Given the description of an element on the screen output the (x, y) to click on. 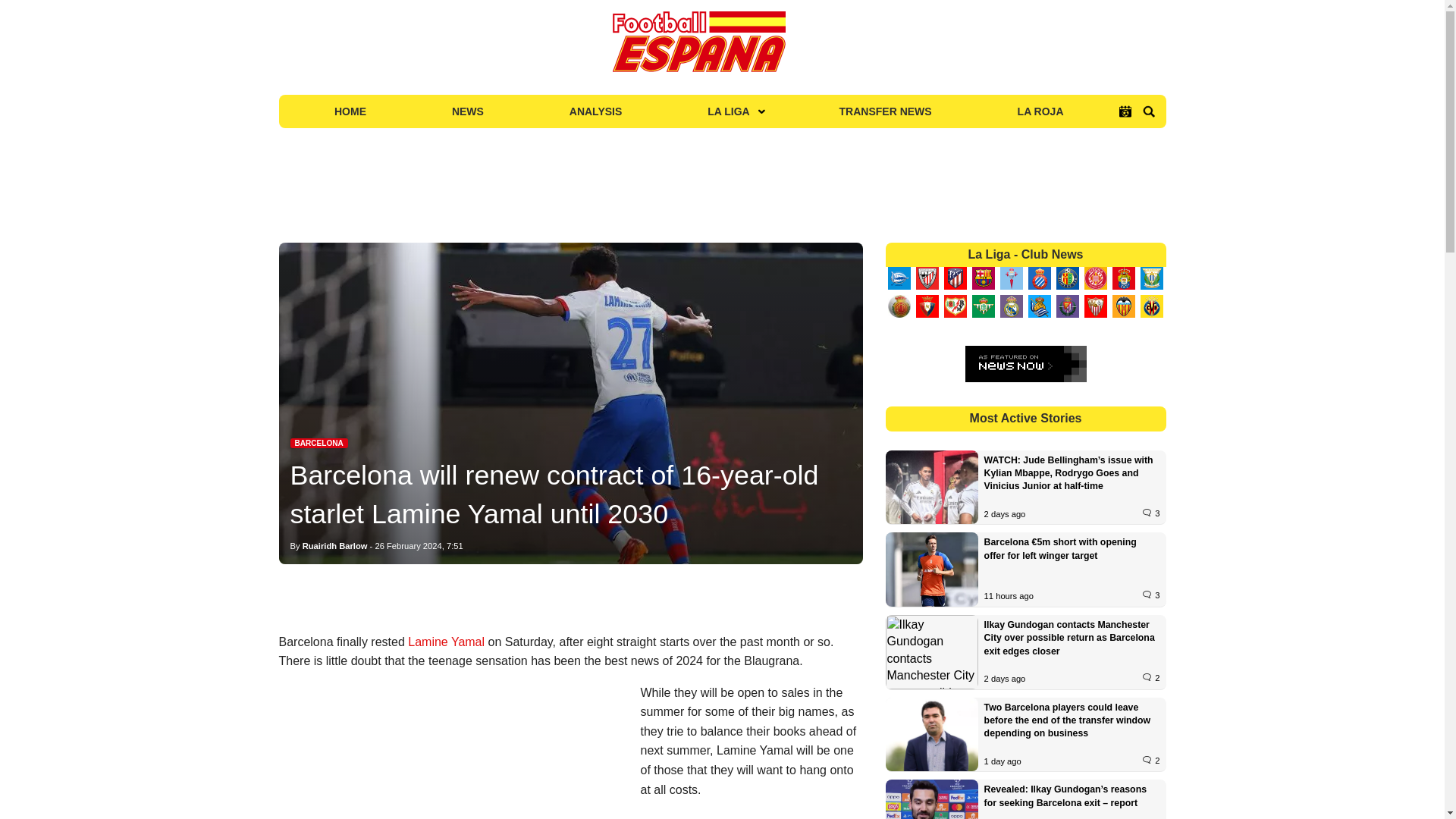
Search (1147, 111)
Latest Barcelona News (318, 442)
HOME (350, 111)
NEWS (468, 111)
ANALYSIS (595, 111)
TRANSFER NEWS (885, 111)
LA ROJA (1040, 111)
La Liga Fixtures (1125, 111)
LA LIGA (729, 111)
